Given the description of an element on the screen output the (x, y) to click on. 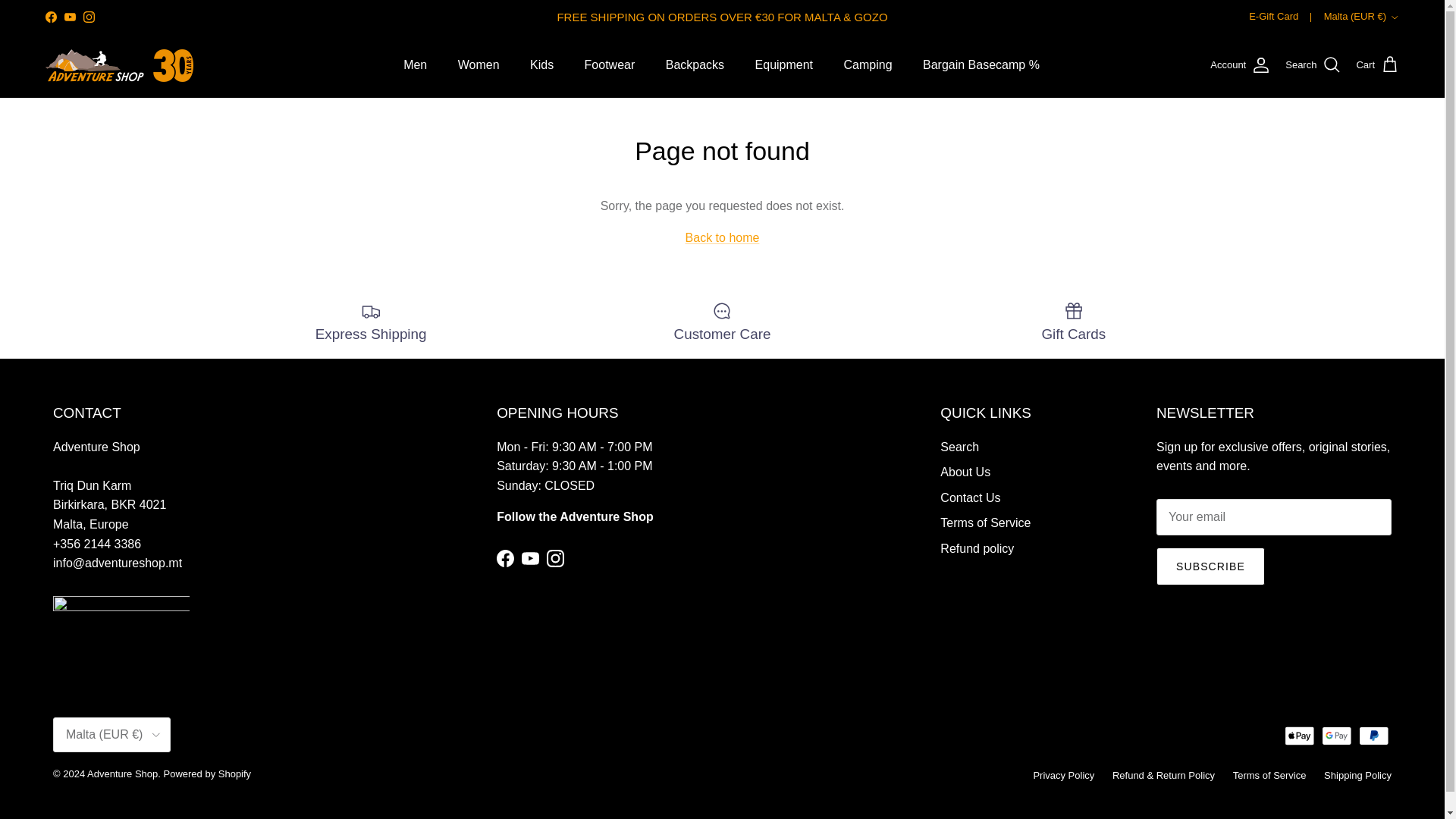
YouTube (69, 16)
Instagram (88, 16)
Camping (867, 64)
Adventure Shop on YouTube (69, 16)
Equipment (784, 64)
Cart (1377, 65)
Adventure Shop on Facebook (504, 558)
Backpacks (695, 64)
Adventure Shop on Instagram (88, 16)
Kids (541, 64)
Google Pay (1336, 735)
Adventure Shop on Instagram (555, 558)
Adventure Shop (119, 65)
Men (415, 64)
Adventure Shop on YouTube (529, 558)
